Given the description of an element on the screen output the (x, y) to click on. 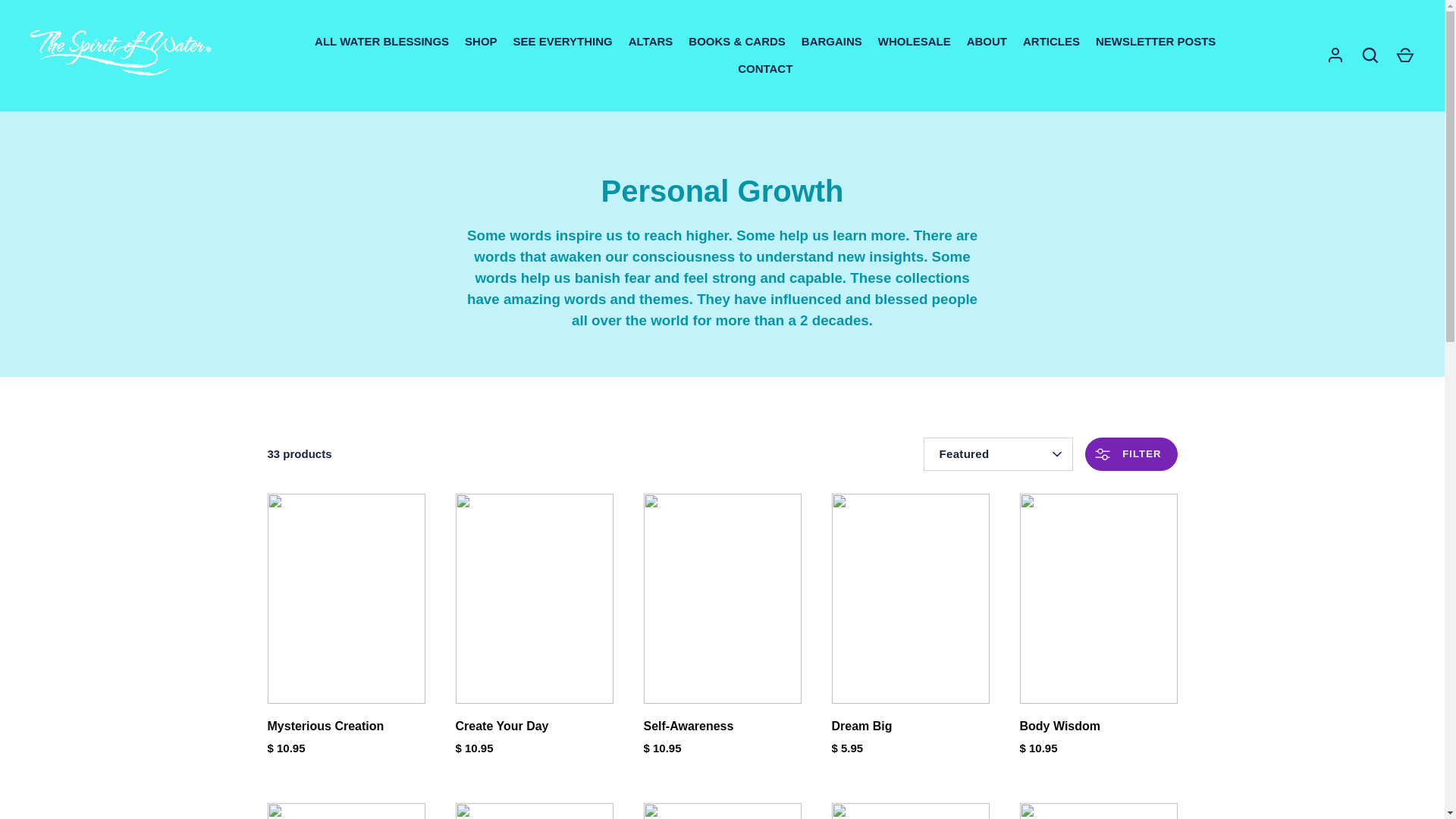
SHOP (481, 41)
ALL WATER BLESSINGS (382, 41)
